Given the description of an element on the screen output the (x, y) to click on. 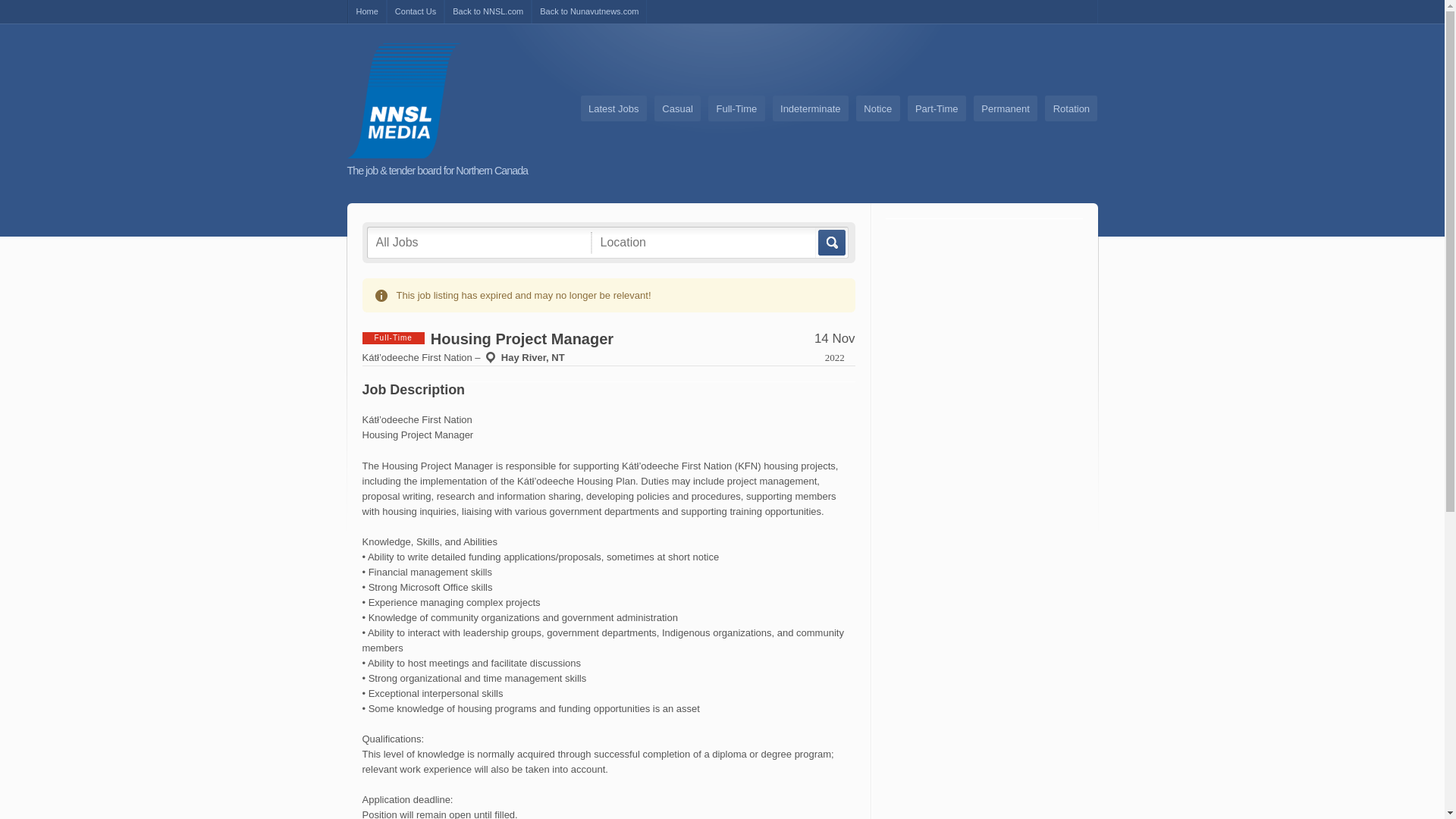
Full-Time (735, 108)
Go (829, 242)
Latest Jobs (613, 108)
Notice (877, 108)
Rotation (1071, 108)
Location (703, 242)
Home (366, 11)
Permanent (1005, 108)
Part-Time (936, 108)
Back to Nunavutnews.com (588, 11)
Casual (676, 108)
Go (829, 242)
Contact Us (415, 11)
Back to NNSL.com (487, 11)
Indeterminate (810, 108)
